Given the description of an element on the screen output the (x, y) to click on. 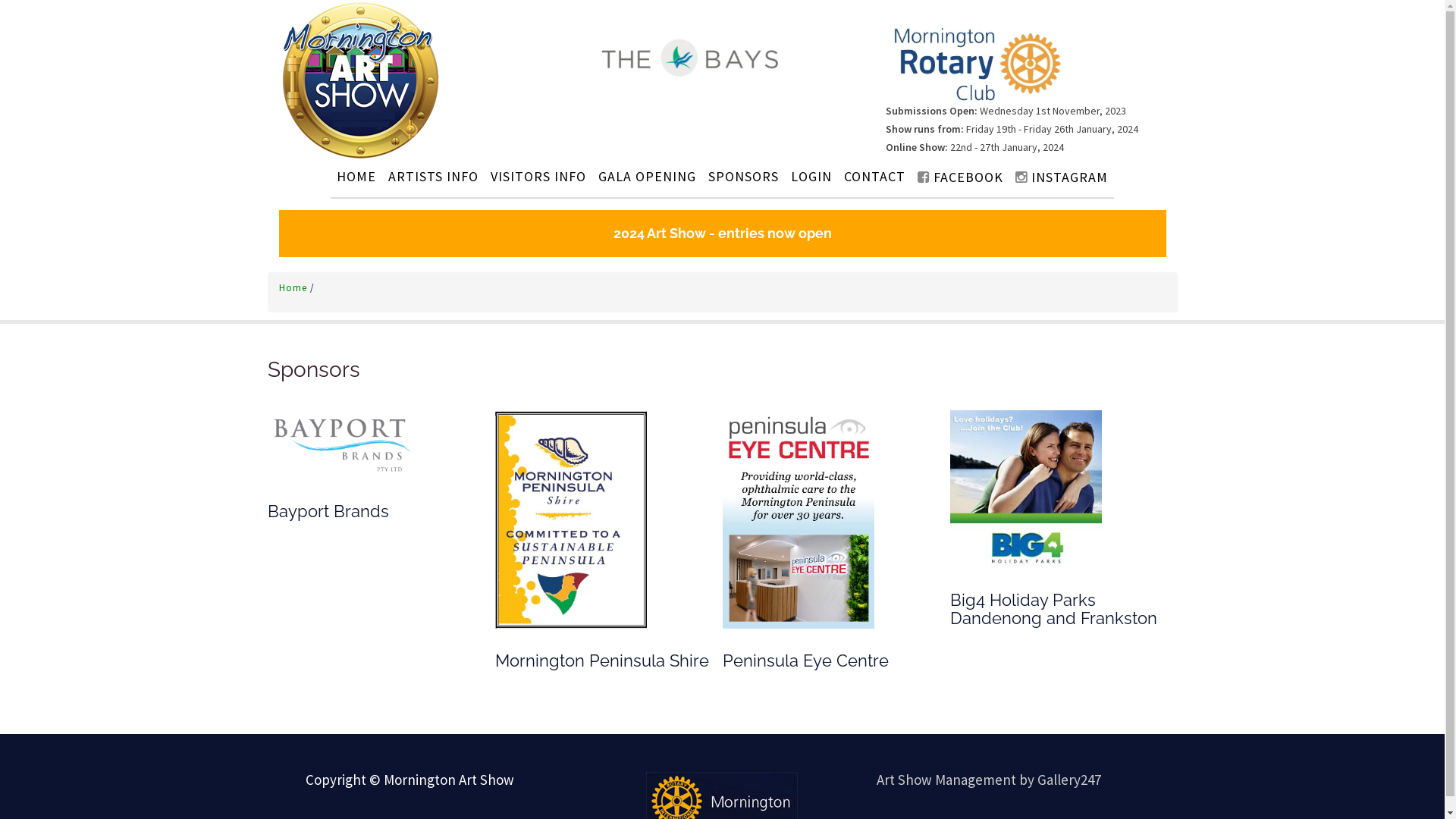
Big4 Holiday Parks Dandenong and Frankston Element type: hover (1025, 488)
Peninsula Eye Centre Element type: hover (797, 518)
INSTAGRAM Element type: text (1061, 177)
Mornington Peninsula Shire Element type: hover (570, 518)
Sponsors Element type: text (312, 369)
GALA OPENING Element type: text (646, 176)
Home Element type: text (294, 287)
SPONSORS Element type: text (743, 176)
CONTACT Element type: text (874, 176)
ARTISTS INFO Element type: text (433, 176)
LOGIN Element type: text (811, 176)
FACEBOOK Element type: text (960, 177)
Bayport Brands Element type: hover (342, 443)
HOME Element type: text (355, 176)
Art Show Management by Gallery247 Element type: text (988, 779)
VISITORS INFO Element type: text (537, 176)
2024 Art Show - entries now open Element type: text (722, 233)
